Given the description of an element on the screen output the (x, y) to click on. 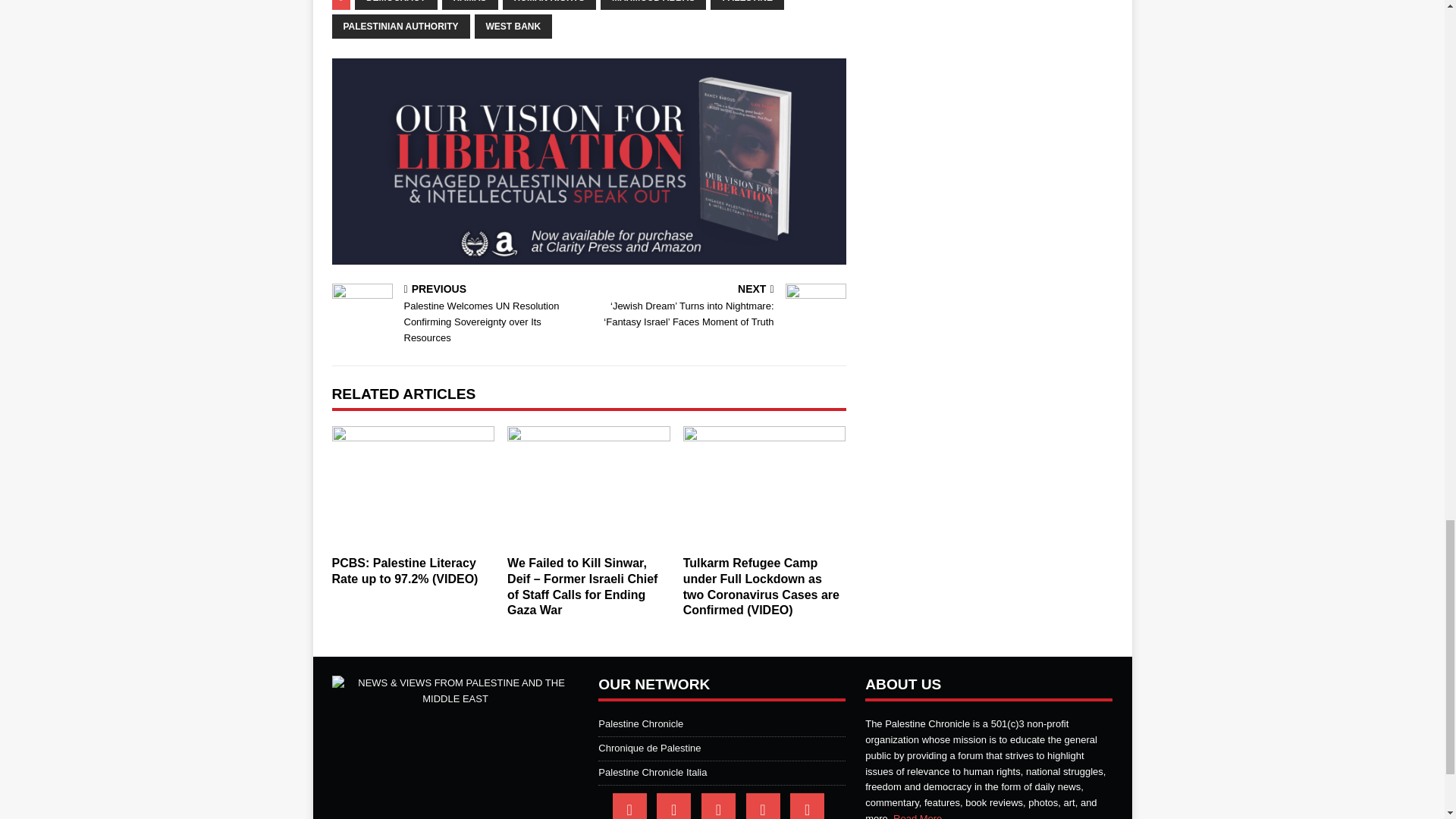
HAMAS (469, 4)
HUMAN RIGHTS (548, 4)
DEMOCRACY (396, 4)
